Given the description of an element on the screen output the (x, y) to click on. 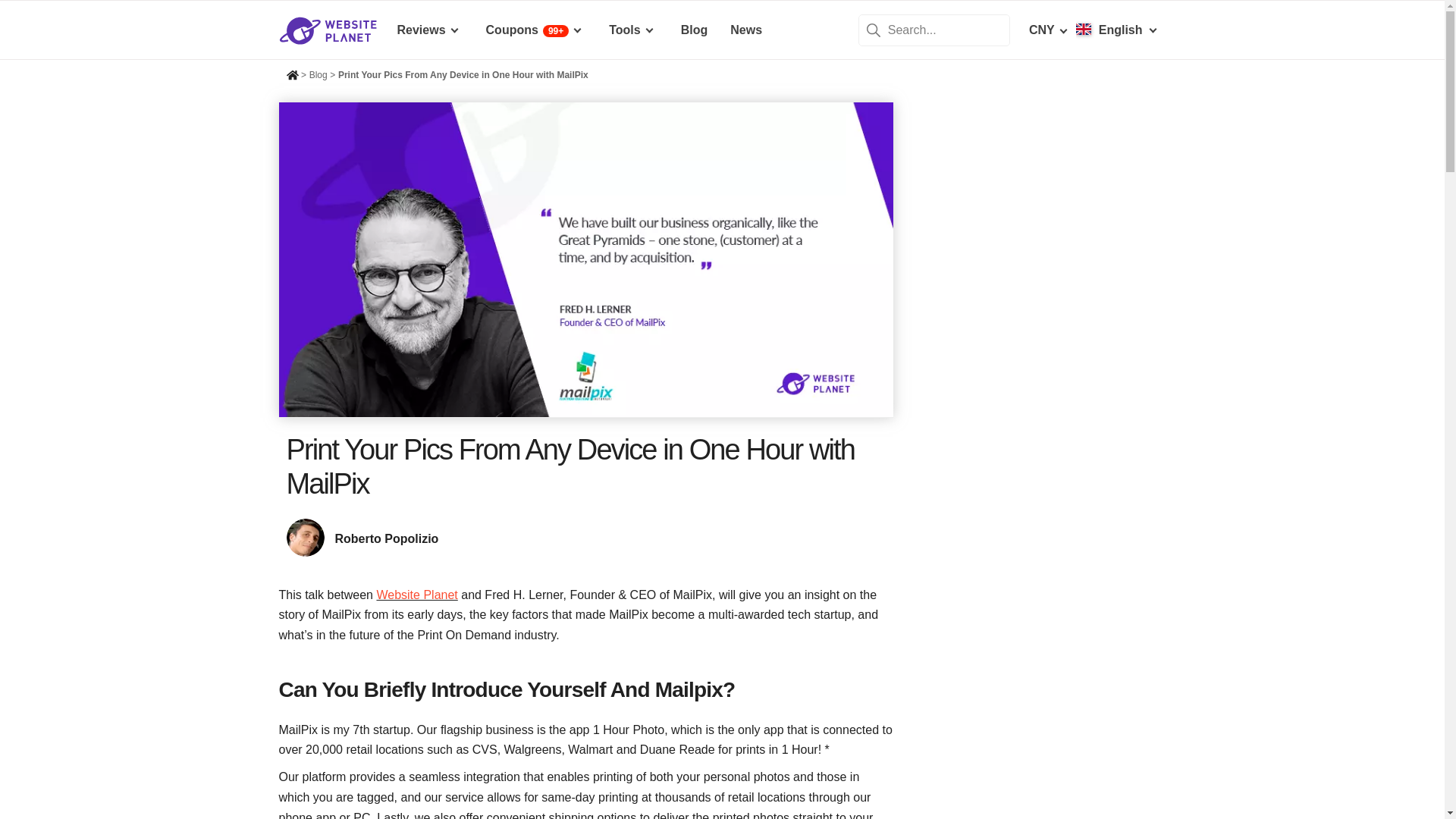
Search (873, 29)
Search (873, 29)
